Given the description of an element on the screen output the (x, y) to click on. 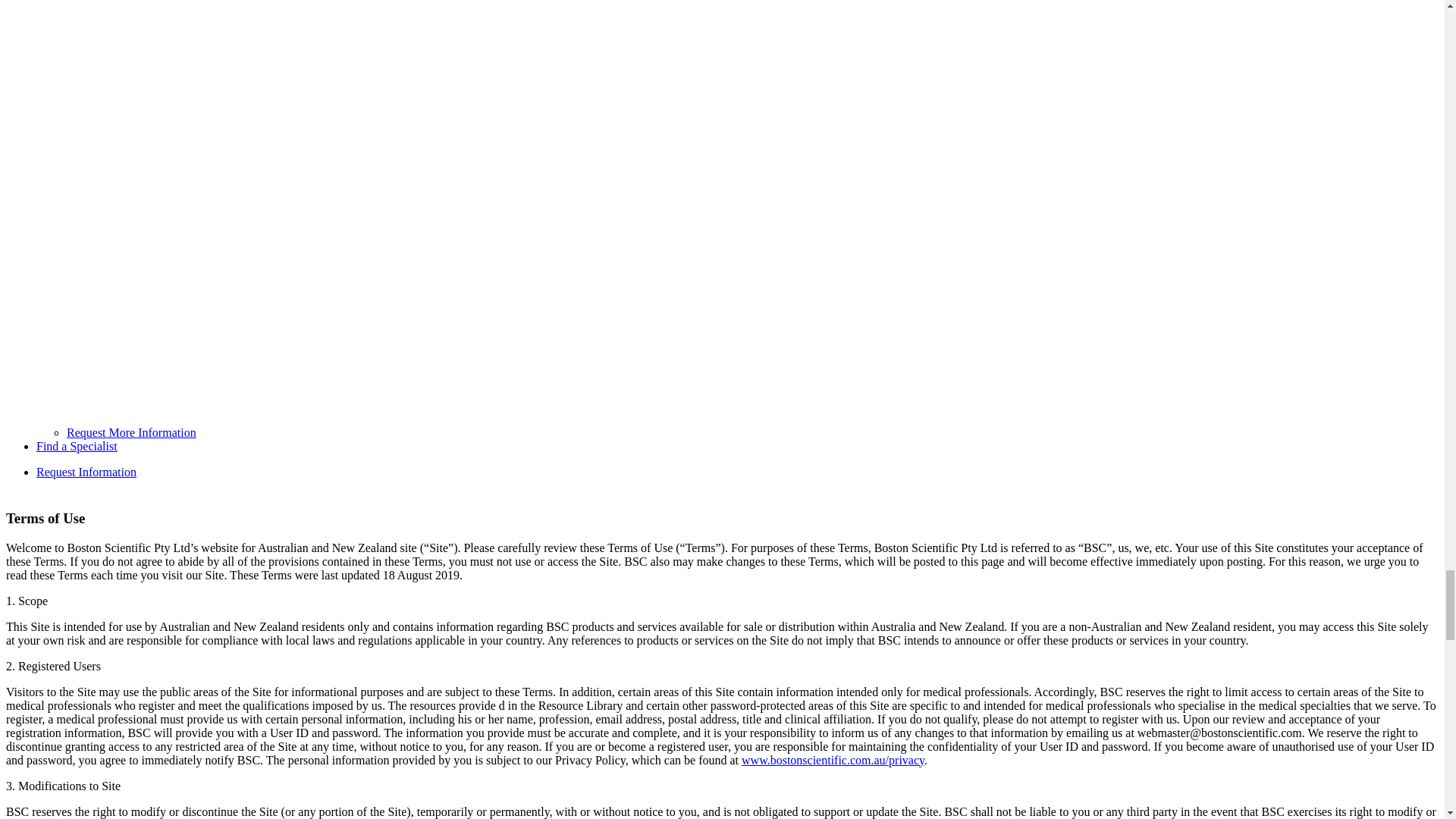
Request Information (86, 472)
Request More Information (131, 431)
Find a Specialist (76, 445)
